Given the description of an element on the screen output the (x, y) to click on. 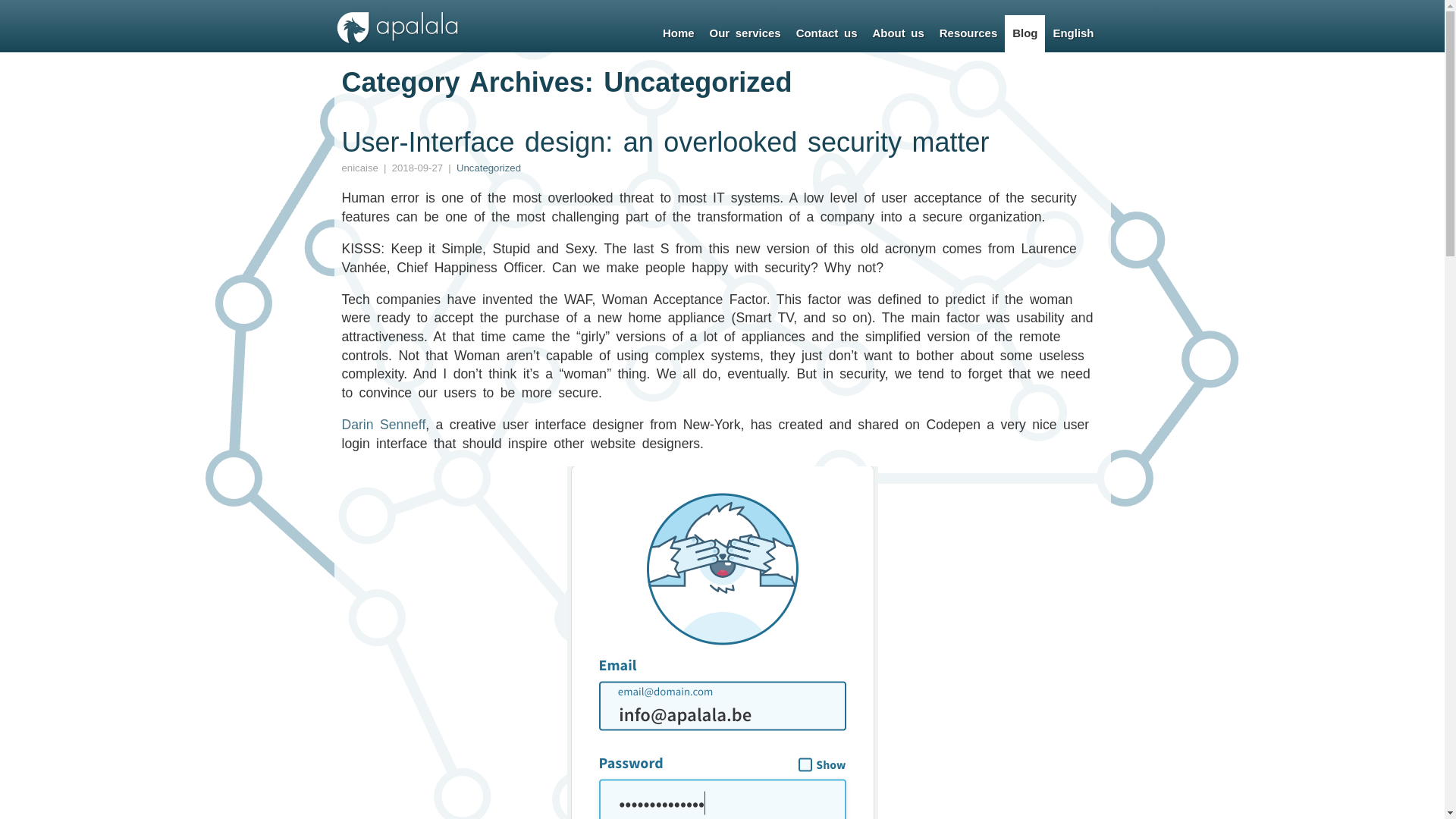
Contact us Element type: text (826, 33)
Blog Element type: text (1024, 33)
enicaise Element type: text (359, 167)
Apalala srl Element type: hover (396, 41)
English Element type: text (1072, 33)
User-Interface design: an overlooked security matter Element type: text (664, 141)
Darin Senneff Element type: text (383, 424)
About us Element type: text (897, 33)
Uncategorized Element type: text (488, 167)
Resources Element type: text (967, 33)
Our services Element type: text (745, 33)
Home Element type: text (678, 33)
